Given the description of an element on the screen output the (x, y) to click on. 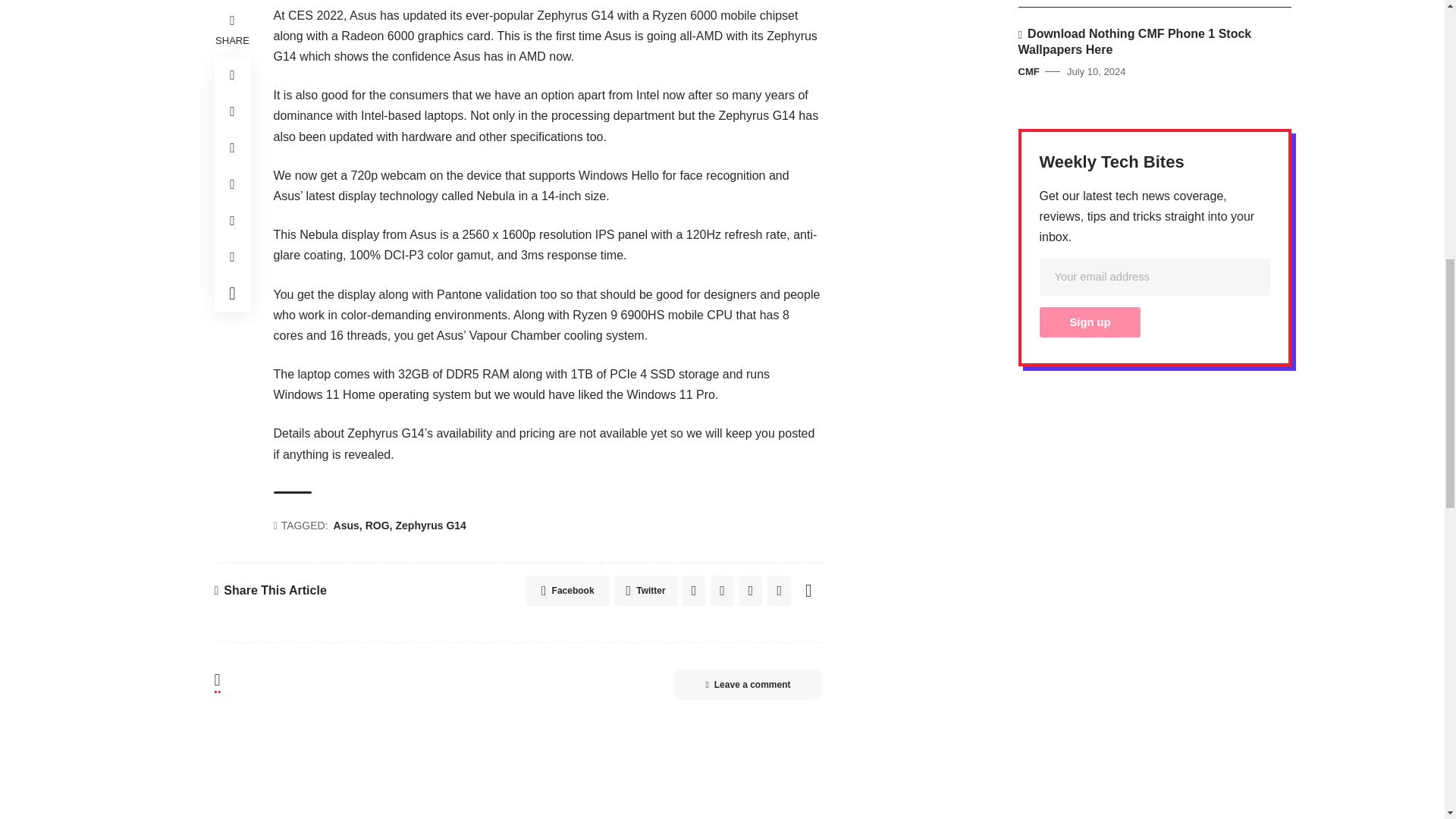
Sign up (1089, 322)
